Given the description of an element on the screen output the (x, y) to click on. 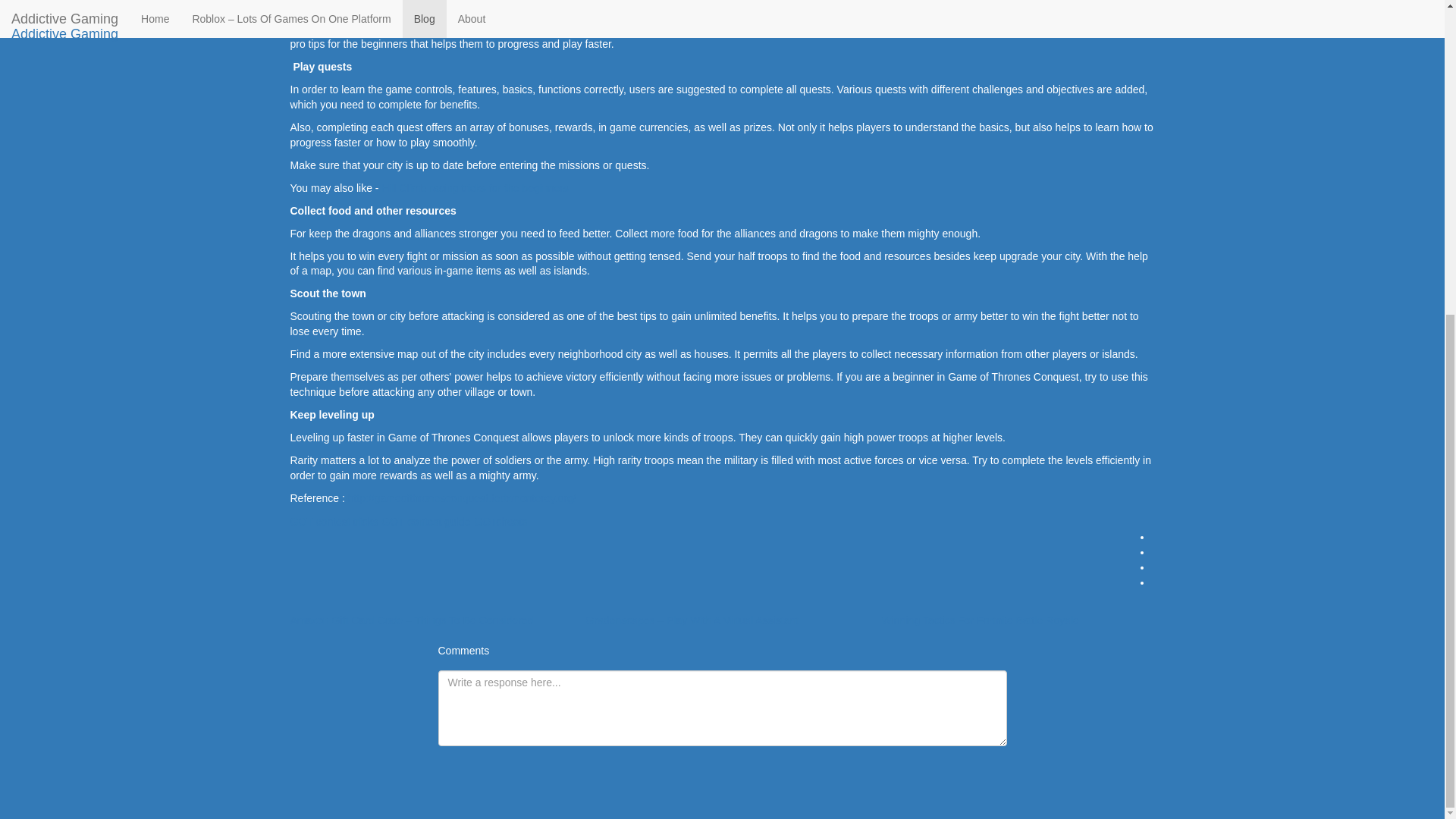
GOT contest guide (425, 522)
GOT contest tricks (333, 522)
Hill Climb racing tricks for the beginners (475, 187)
GOTcheats (500, 522)
Winning Tactics For Fortnite Battle Royale (979, 620)
